Given the description of an element on the screen output the (x, y) to click on. 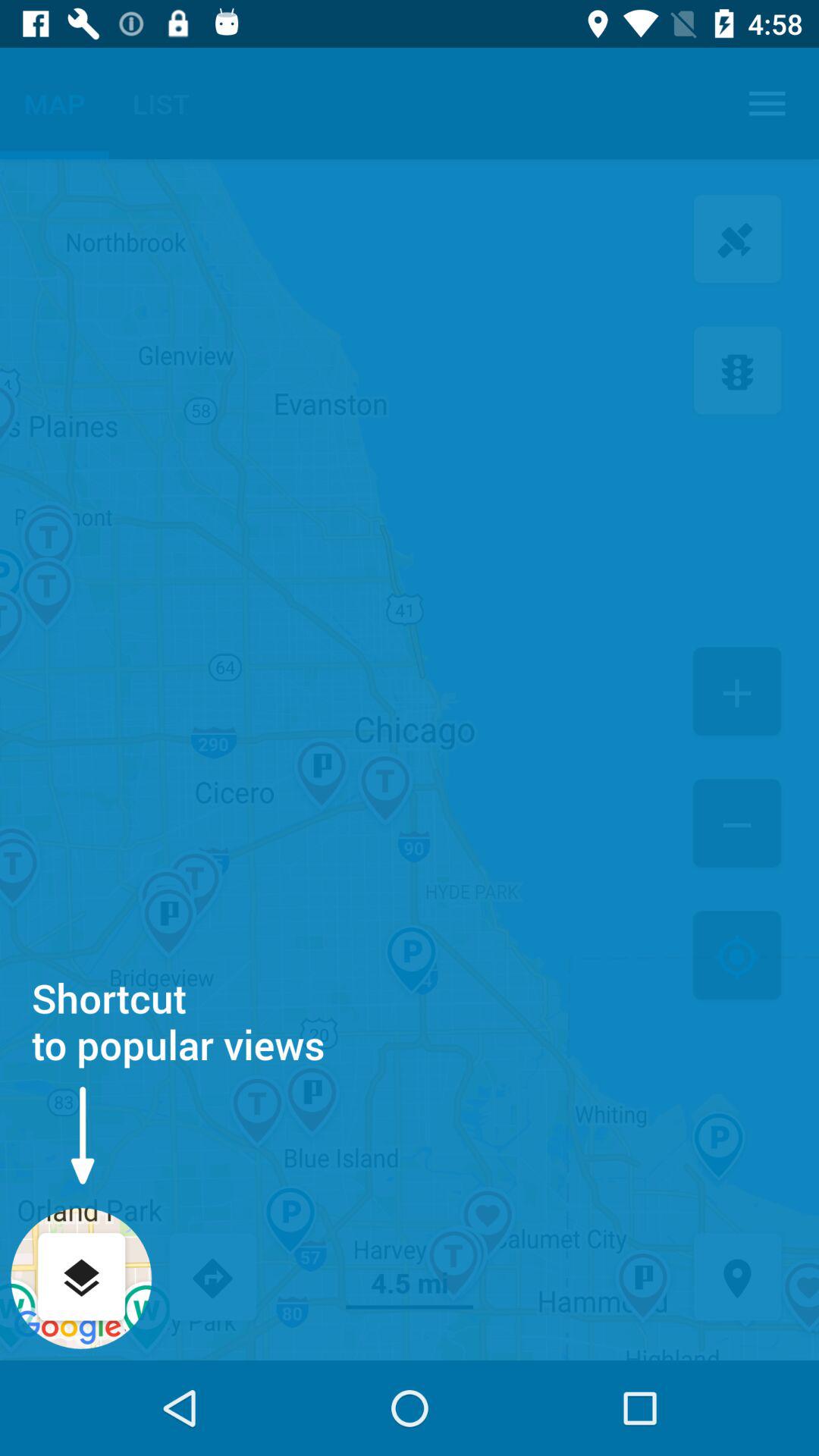
select the icon next to the 4.5 mi icon (737, 1278)
